Given the description of an element on the screen output the (x, y) to click on. 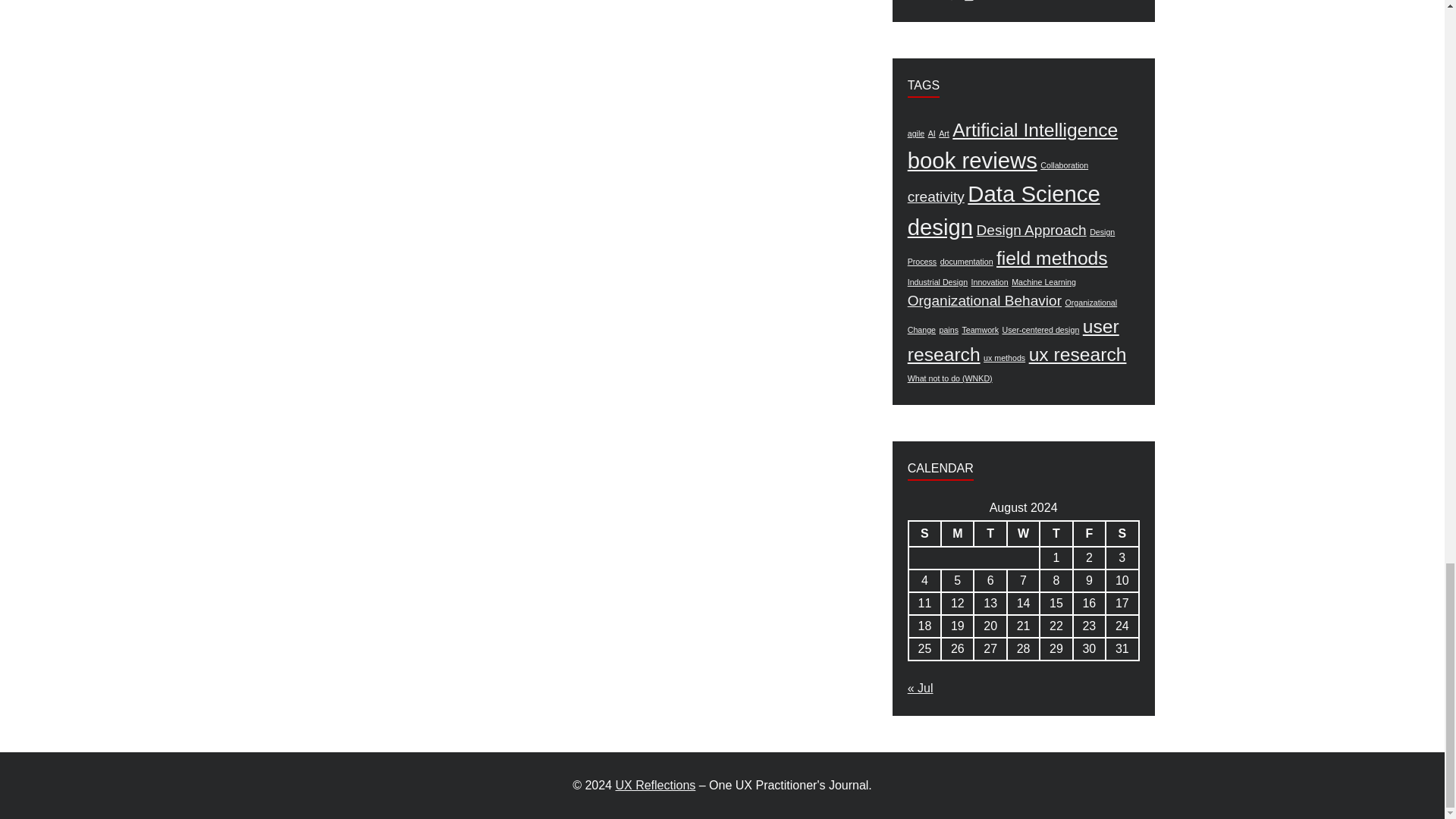
Wednesday (1023, 533)
Monday (957, 533)
Sunday (924, 533)
UX Reflections (654, 784)
Tuesday (990, 533)
Saturday (1121, 533)
Friday (1089, 533)
Thursday (1055, 533)
